Given the description of an element on the screen output the (x, y) to click on. 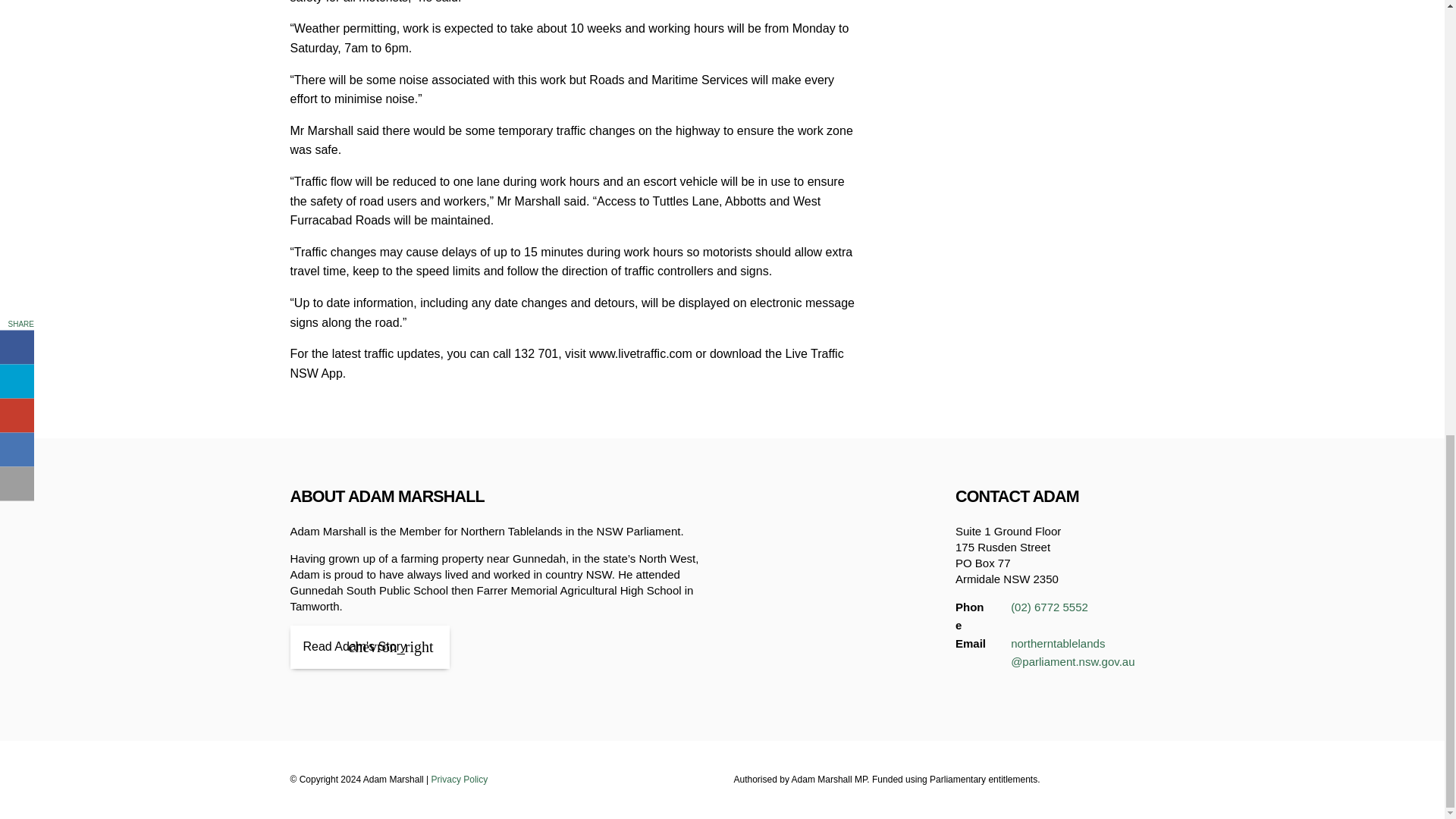
Read Adam's Story (368, 647)
Privacy Policy (458, 778)
